Given the description of an element on the screen output the (x, y) to click on. 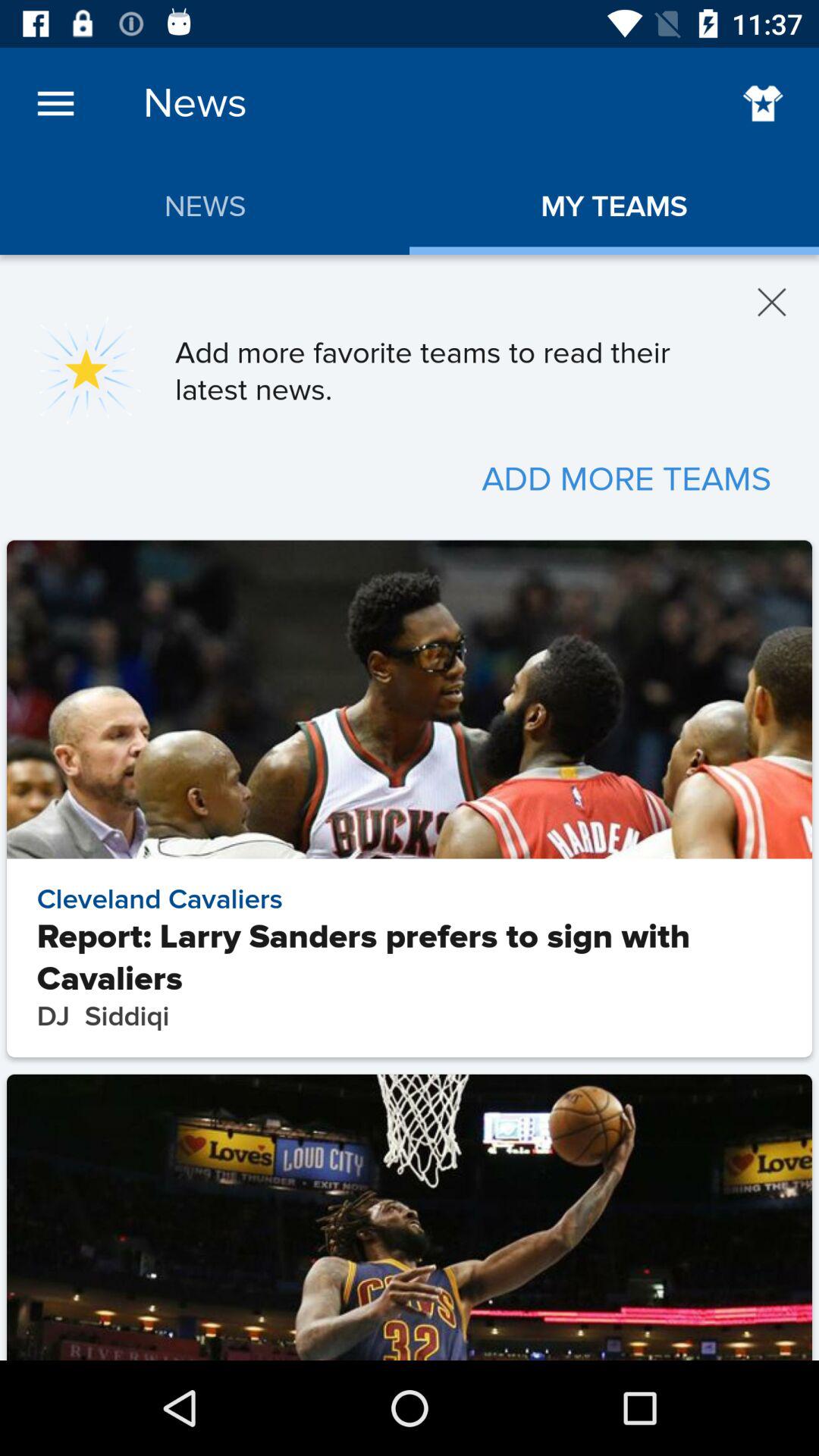
close banner (772, 302)
